Given the description of an element on the screen output the (x, y) to click on. 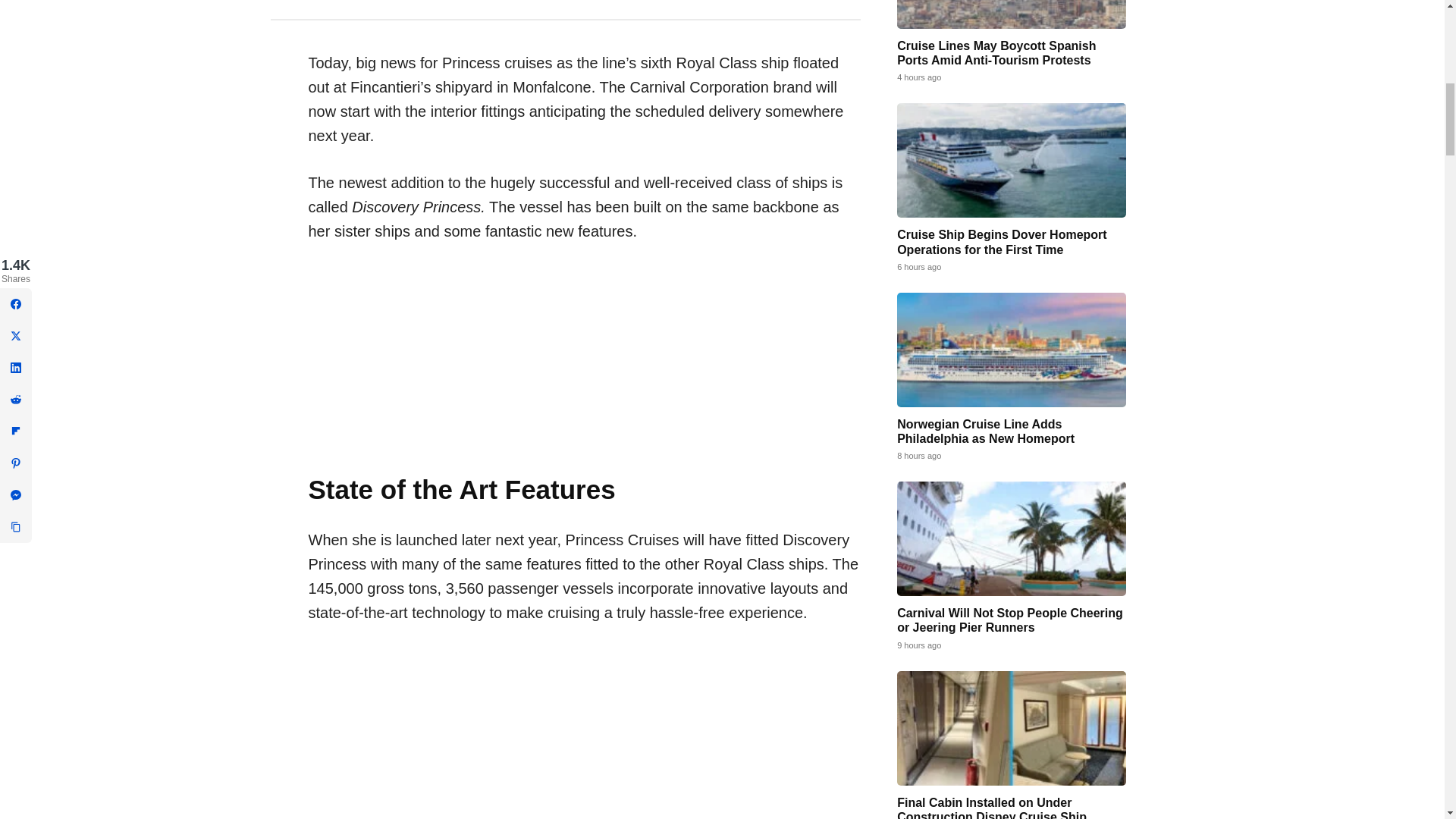
Norwegian Cruise Line Adds Philadelphia as New Homeport (1010, 349)
Norwegian Cruise Line Adds Philadelphia as New Homeport (985, 431)
